Given the description of an element on the screen output the (x, y) to click on. 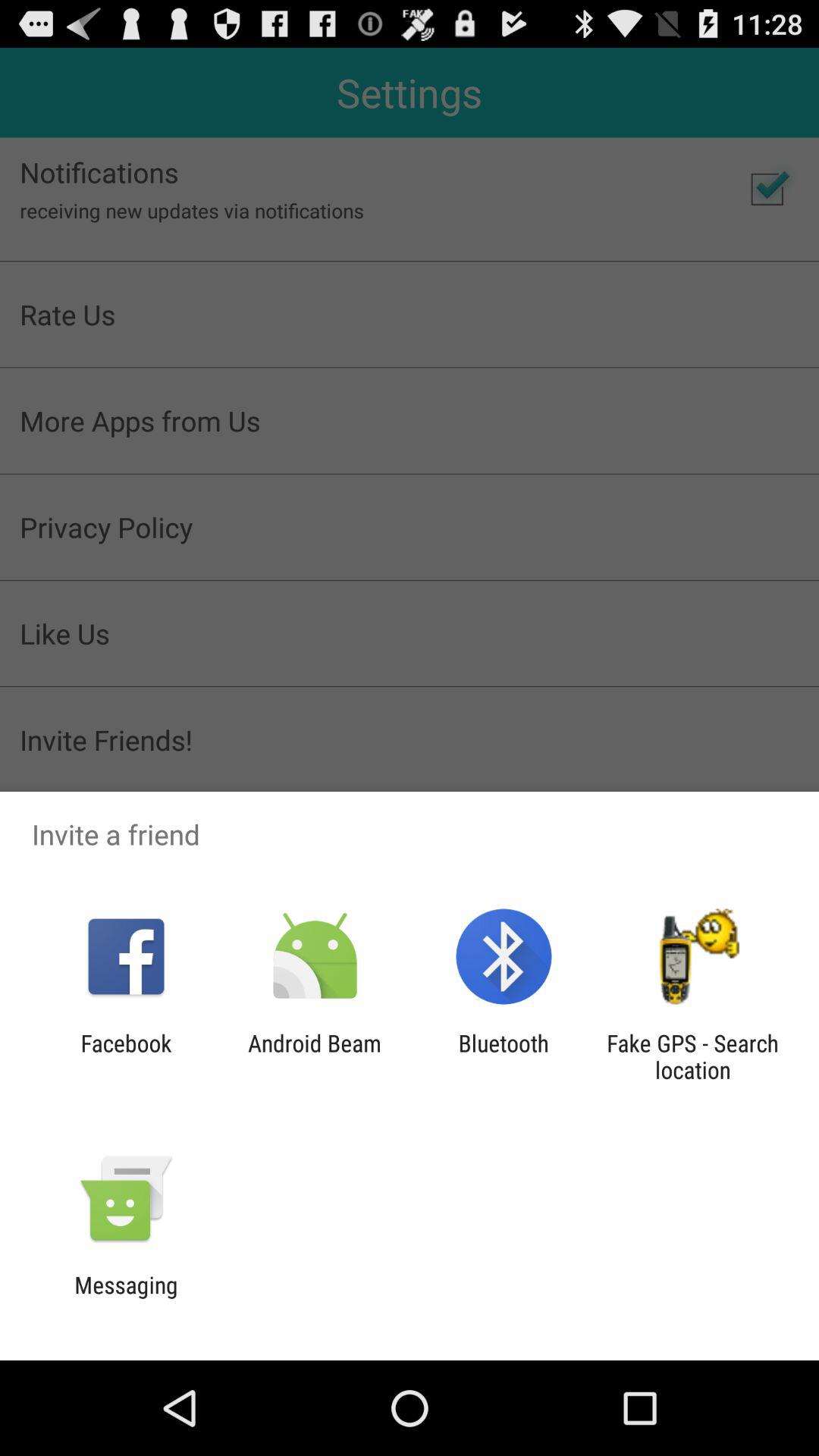
turn off item to the right of bluetooth icon (692, 1056)
